Given the description of an element on the screen output the (x, y) to click on. 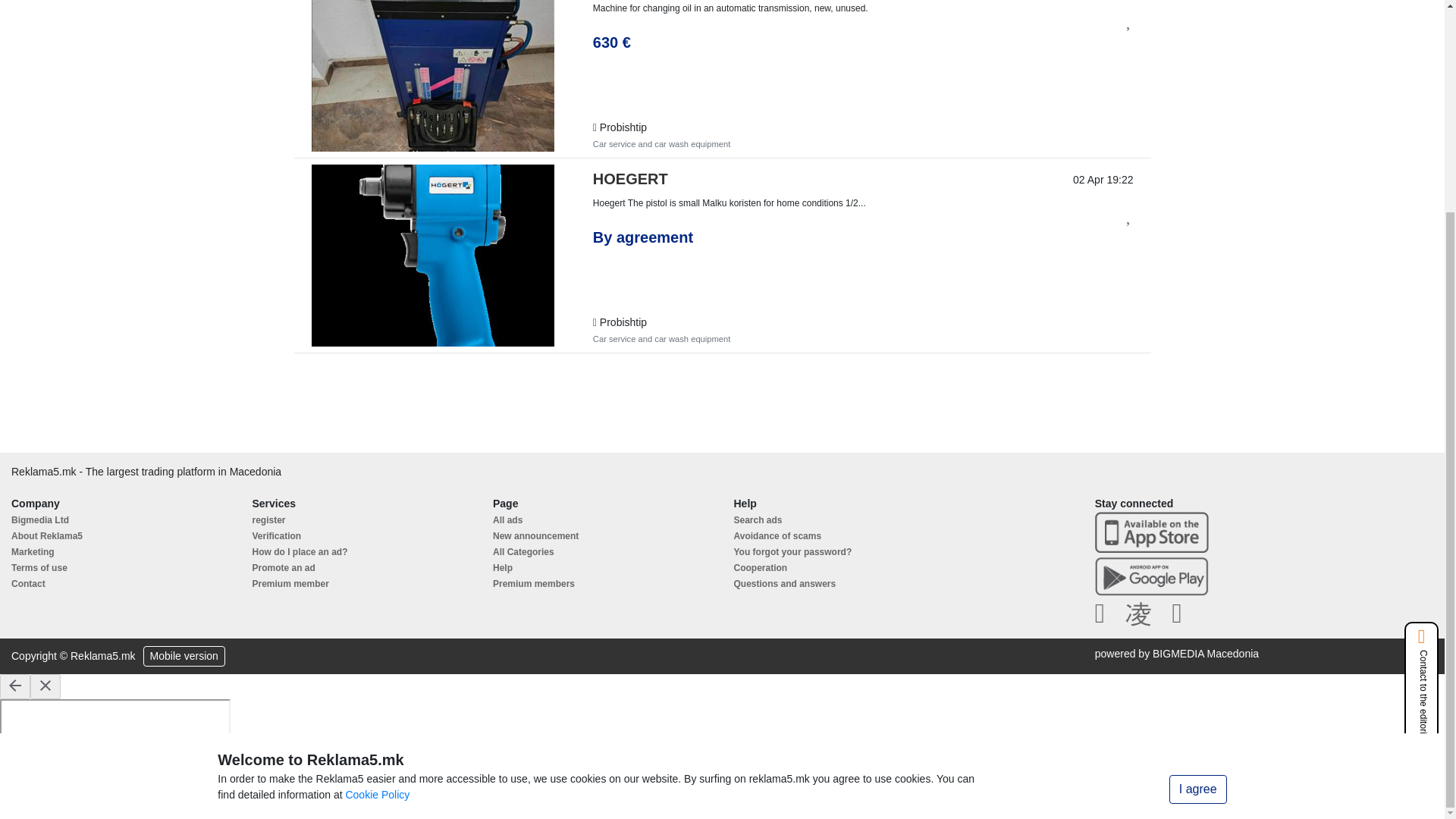
Bigmedia Ltd (39, 520)
HOEGERT (630, 178)
Save (1128, 22)
Terms of use (38, 567)
Car service and car wash equipment (661, 337)
About Reklama5 (46, 535)
Car service and car wash equipment (661, 143)
Advertisement (1267, 561)
Save (1128, 217)
Contact to the editorial office (1421, 421)
Marketing (33, 552)
Advertisement (1267, 167)
Advertisement (721, 410)
